Given the description of an element on the screen output the (x, y) to click on. 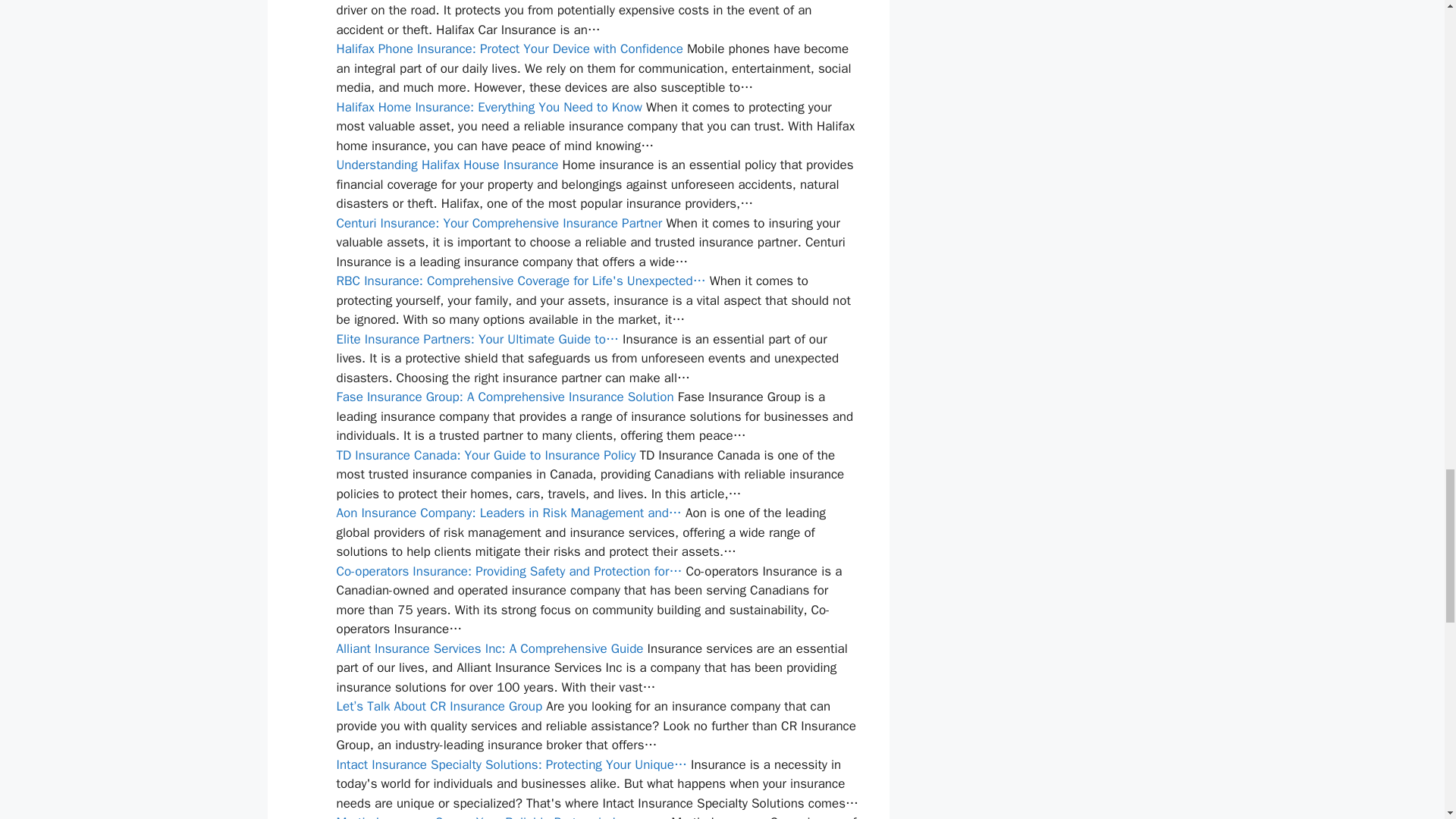
Martin Insurance Group: Your Reliable Partner in Insurance (502, 816)
Fase Insurance Group: A Comprehensive Insurance Solution (505, 396)
TD Insurance Canada: Your Guide to Insurance Policy (486, 455)
Centuri Insurance: Your Comprehensive Insurance Partner (499, 222)
Understanding Halifax House Insurance (447, 164)
Alliant Insurance Services Inc: A Comprehensive Guide (489, 648)
Halifax Phone Insurance: Protect Your Device with Confidence (509, 48)
Halifax Home Insurance: Everything You Need to Know (489, 107)
